Given the description of an element on the screen output the (x, y) to click on. 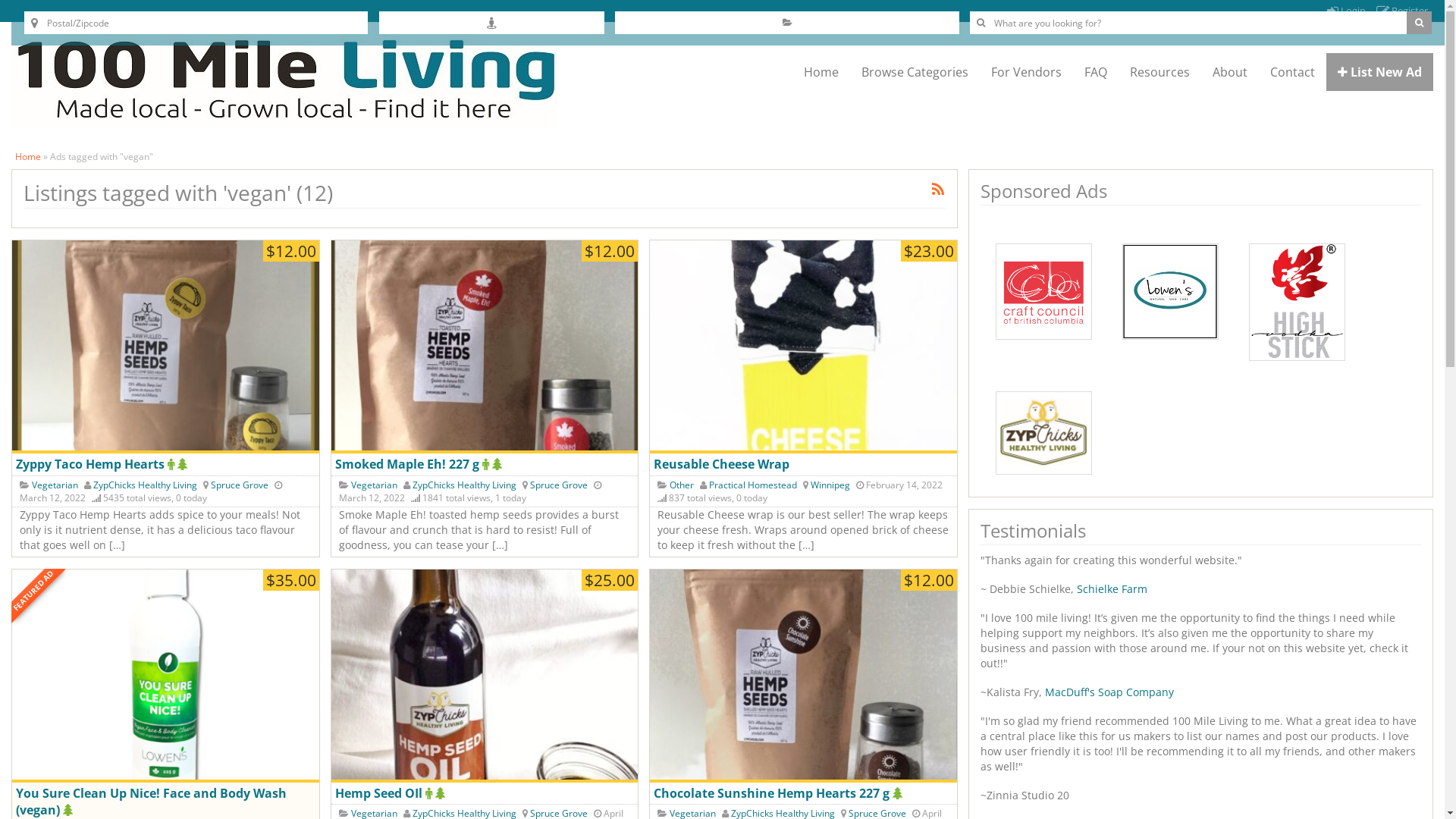
Search Ads Element type: hover (1418, 22)
  Element type: text (430, 793)
FAQ Element type: text (1095, 72)
Zyppy Taco Hemp Hearts Element type: hover (165, 346)
Smoked Maple Eh! 227 g Element type: text (408, 463)
ZypChicks Healthy Living Element type: text (145, 484)
Home Element type: text (27, 156)
Browse Categories Element type: text (914, 72)
Register Element type: text (1402, 10)
For Vendors Element type: text (1026, 72)
Schielke Farm Element type: text (1110, 588)
Hemp Seed OIl Element type: text (380, 792)
  Element type: text (184, 464)
Zyppy Taco Hemp Hearts Element type: text (91, 463)
You Sure Clean Up Nice! Face and Body Wash (vegan) Element type: text (150, 801)
Hemp Seed OIl Element type: hover (484, 675)
Spruce Grove Element type: text (558, 484)
  Element type: text (487, 464)
You Sure Clean Up Nice! Face and Body Wash (vegan) Element type: hover (165, 675)
Reusable Cheese Wrap Element type: hover (803, 346)
Resources Element type: text (1159, 72)
Chocolate Sunshine Hemp Hearts 227 g Element type: text (772, 792)
Smoked Maple Eh! 227 g Element type: hover (484, 346)
  Element type: text (498, 464)
Chocolate Sunshine Hemp Hearts 227 g Element type: hover (803, 675)
Login Element type: text (1346, 10)
List New Ad Element type: text (1379, 72)
search Element type: text (1418, 22)
About Element type: text (1229, 72)
Home Element type: text (821, 72)
Practical Homestead Element type: text (753, 484)
Reusable Cheese Wrap Element type: text (721, 463)
Contact Element type: text (1292, 72)
ZypChicks Healthy Living Element type: text (464, 484)
MacDuff's Soap Company Element type: text (1108, 691)
Vegetarian Element type: text (54, 484)
Other Element type: text (681, 484)
  Element type: text (172, 464)
  Element type: text (899, 793)
Vegetarian Element type: text (374, 484)
Winnipeg Element type: text (830, 484)
Spruce Grove Element type: text (239, 484)
  Element type: text (69, 809)
  Element type: text (441, 793)
